Given the description of an element on the screen output the (x, y) to click on. 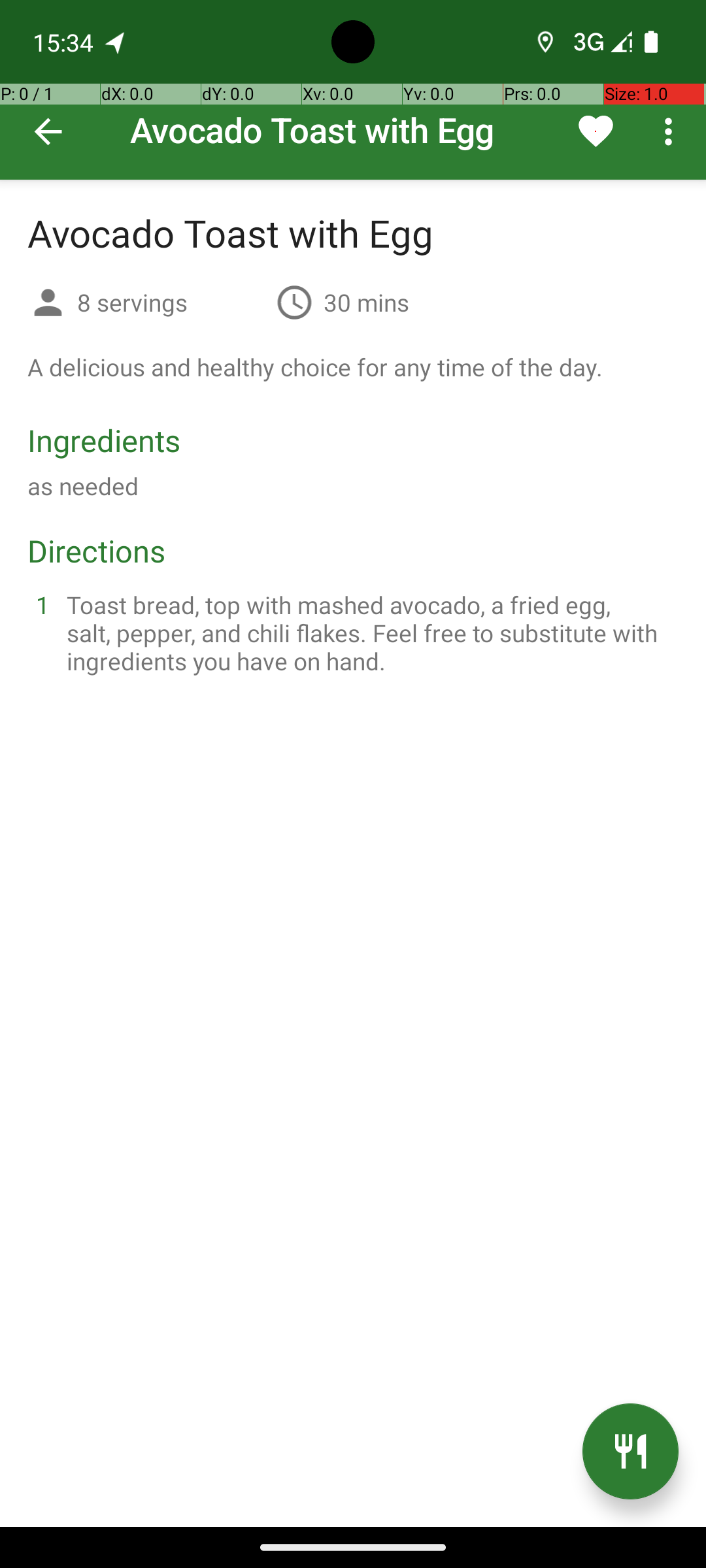
Toast bread, top with mashed avocado, a fried egg, salt, pepper, and chili flakes. Feel free to substitute with ingredients you have on hand. Element type: android.widget.TextView (368, 632)
